Given the description of an element on the screen output the (x, y) to click on. 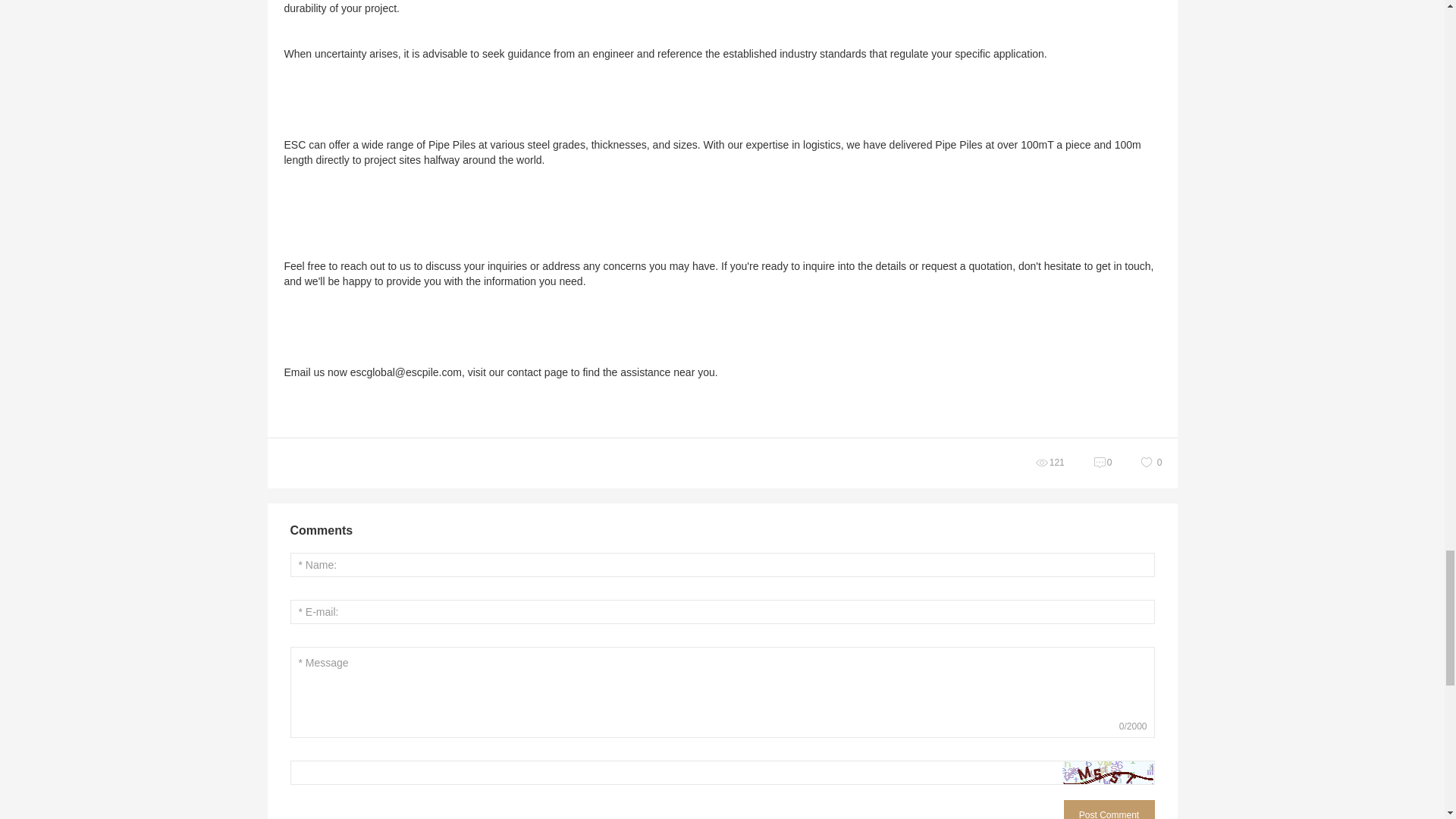
Post Comment (1108, 809)
Post Comment (1108, 809)
